Given the description of an element on the screen output the (x, y) to click on. 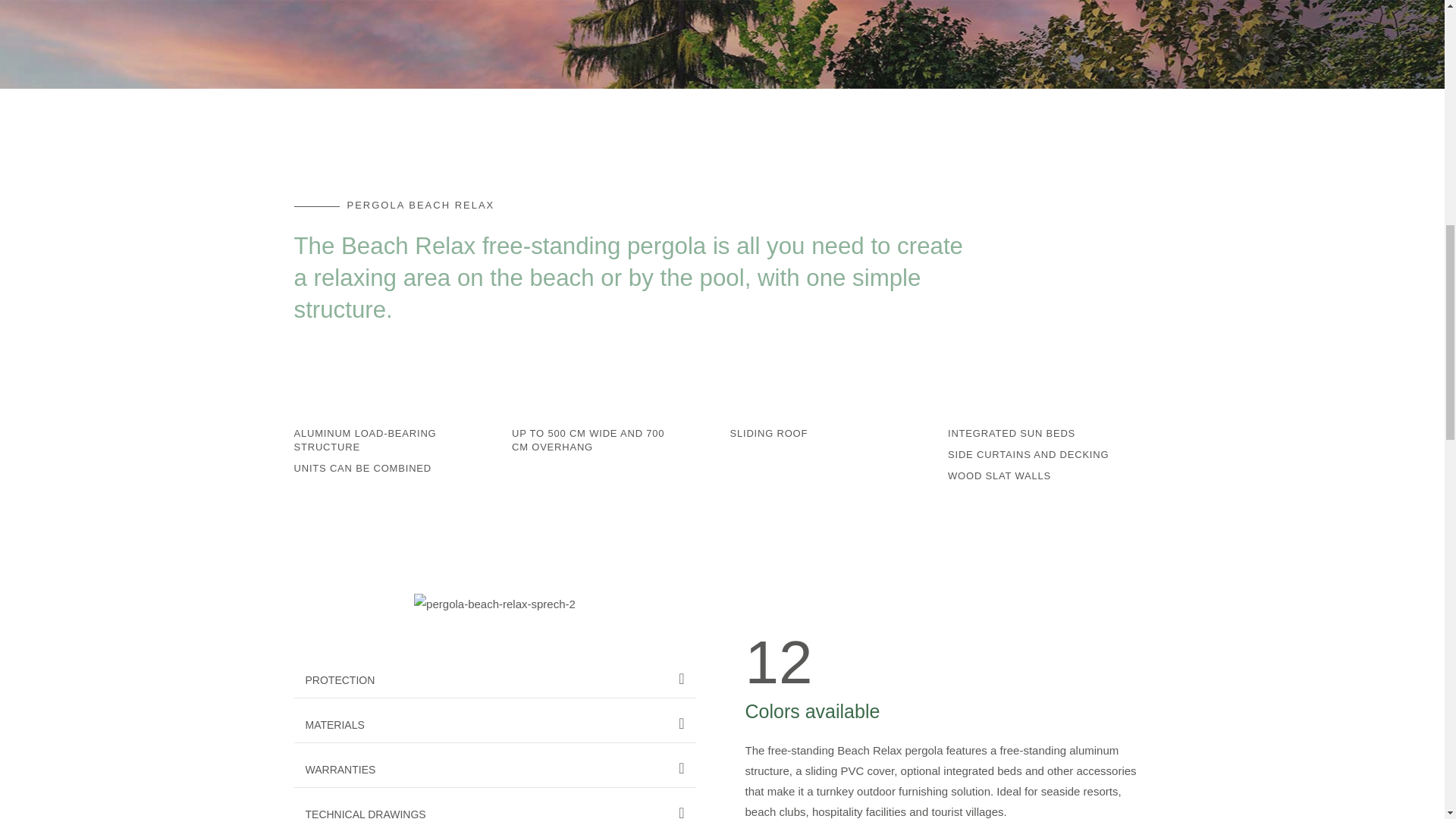
pergola-beach-relax-sprech-2 (494, 603)
